Given the description of an element on the screen output the (x, y) to click on. 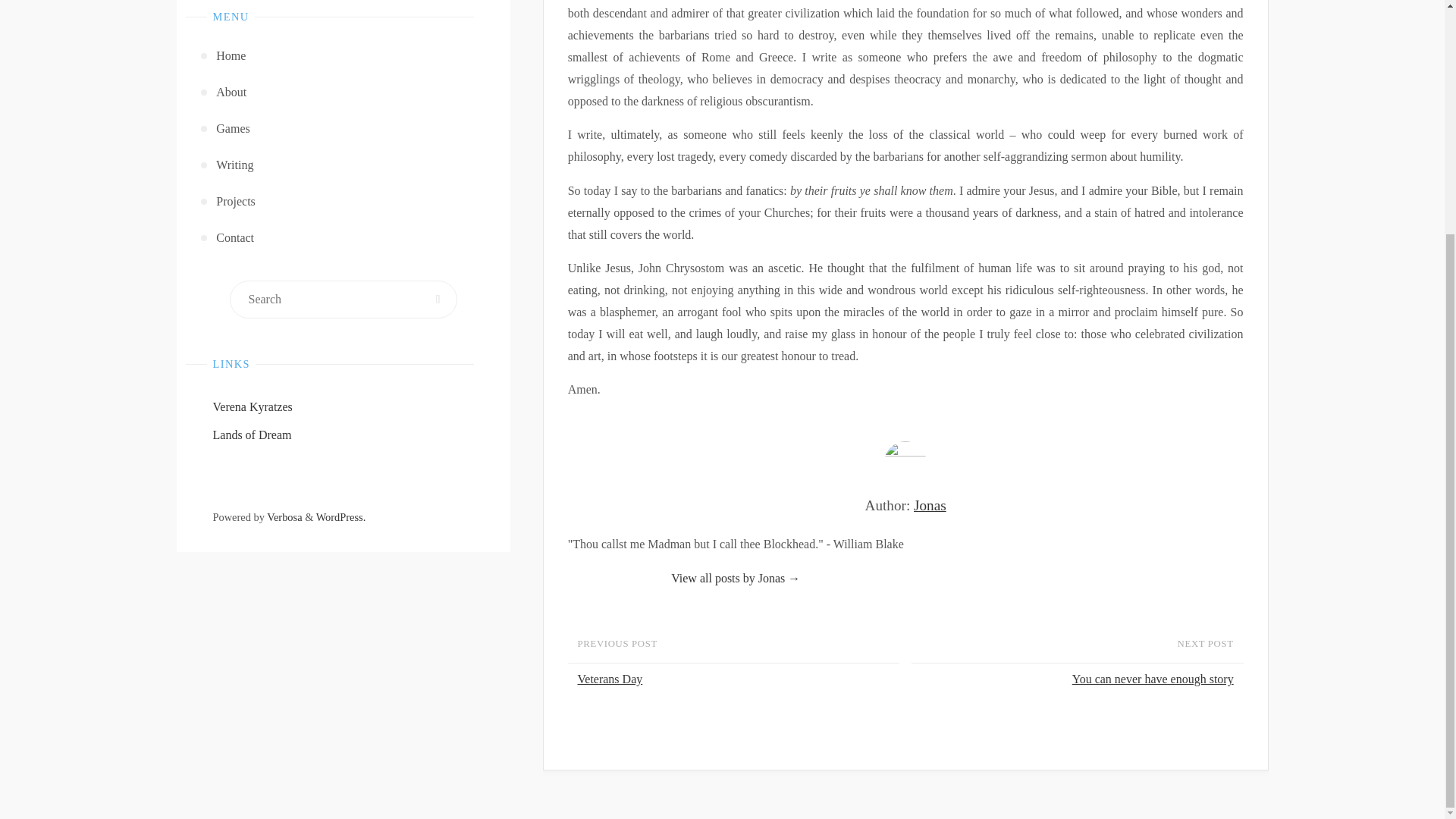
Semantic Personal Publishing Platform (340, 517)
WordPress. (340, 517)
About (344, 92)
You can never have enough story (1074, 679)
Lands of Dream (251, 434)
Contact (344, 238)
Projects (344, 201)
Games (344, 128)
Verbosa Theme by Cryout Creations (283, 517)
Writing (344, 165)
